Given the description of an element on the screen output the (x, y) to click on. 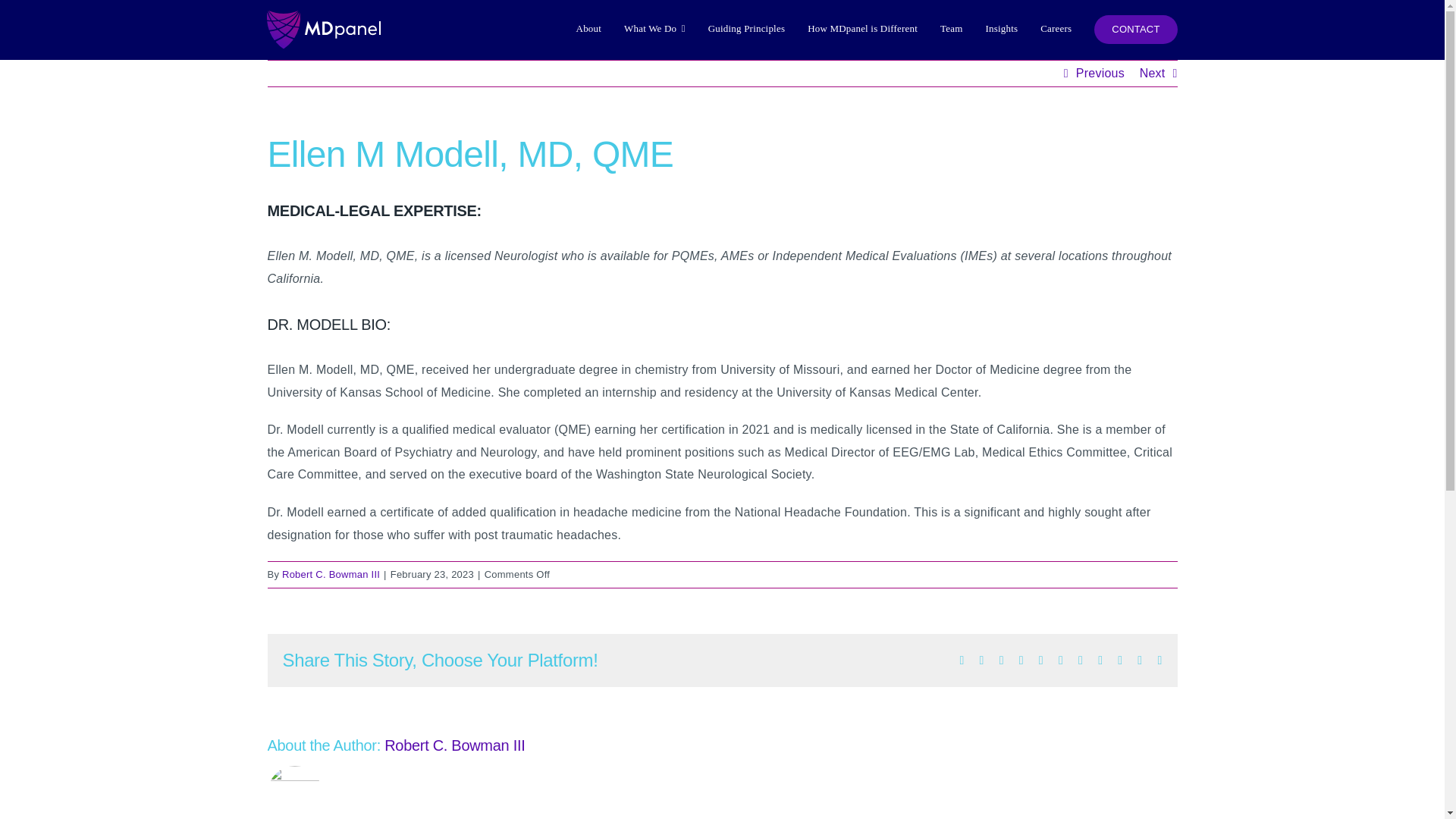
Posts by Robert C. Bowman III (331, 573)
MDpanel's Homepage (366, 29)
Robert C. Bowman III (454, 745)
Next (1153, 73)
Previous (1099, 73)
How MDpanel is Different (862, 29)
Posts by Robert C. Bowman III (454, 745)
Robert C. Bowman III (331, 573)
What We Do (654, 29)
Guiding Principles (745, 29)
